Given the description of an element on the screen output the (x, y) to click on. 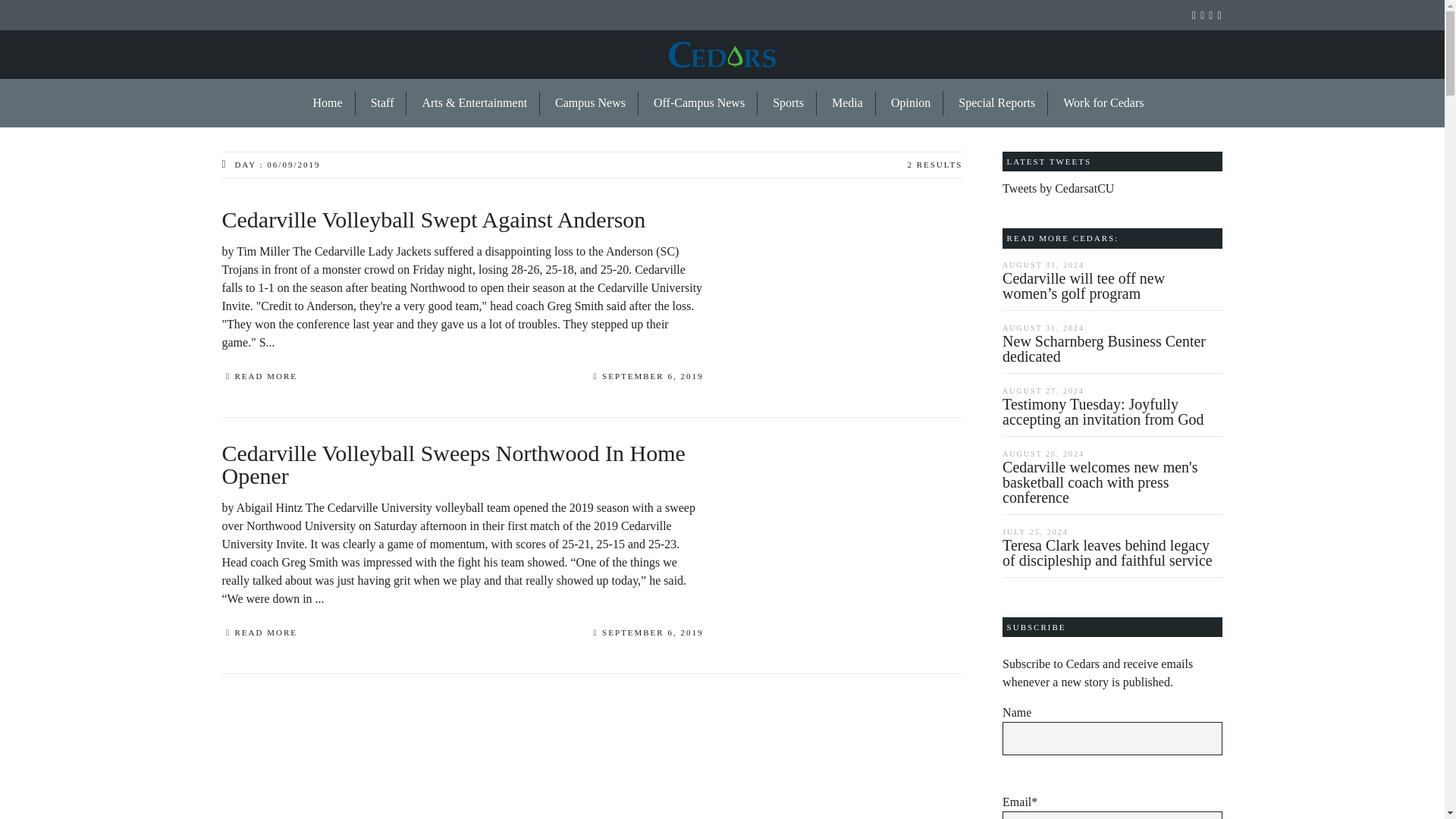
Work for Cedars (1096, 102)
Opinion (911, 102)
Off-Campus News (699, 102)
Special Reports (997, 102)
Staff (382, 102)
Sports (788, 102)
Campus News (591, 102)
Home (328, 102)
Media (847, 102)
